Given the description of an element on the screen output the (x, y) to click on. 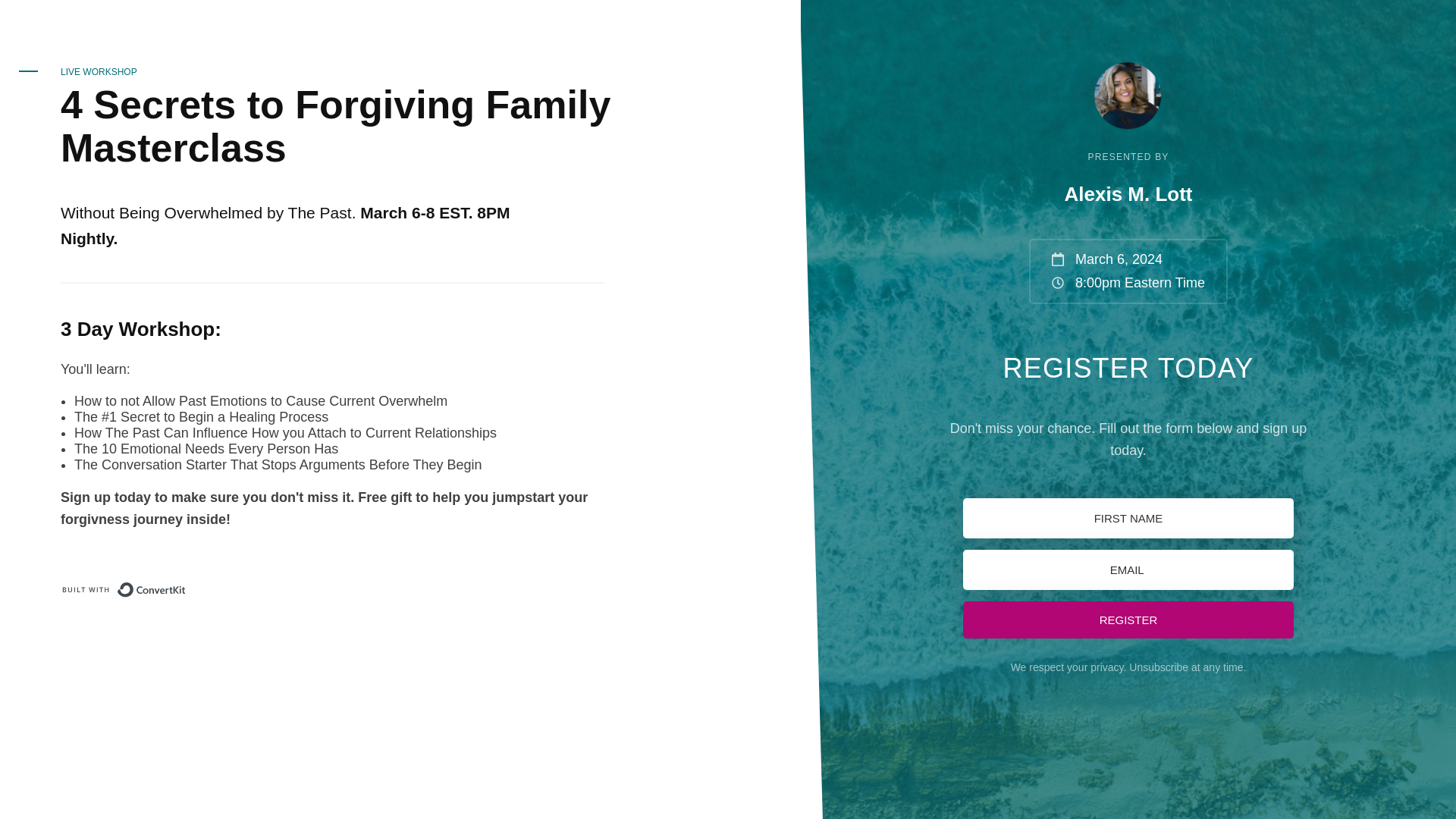
REGISTER (1128, 619)
Powered By ConvertKit (123, 589)
